Given the description of an element on the screen output the (x, y) to click on. 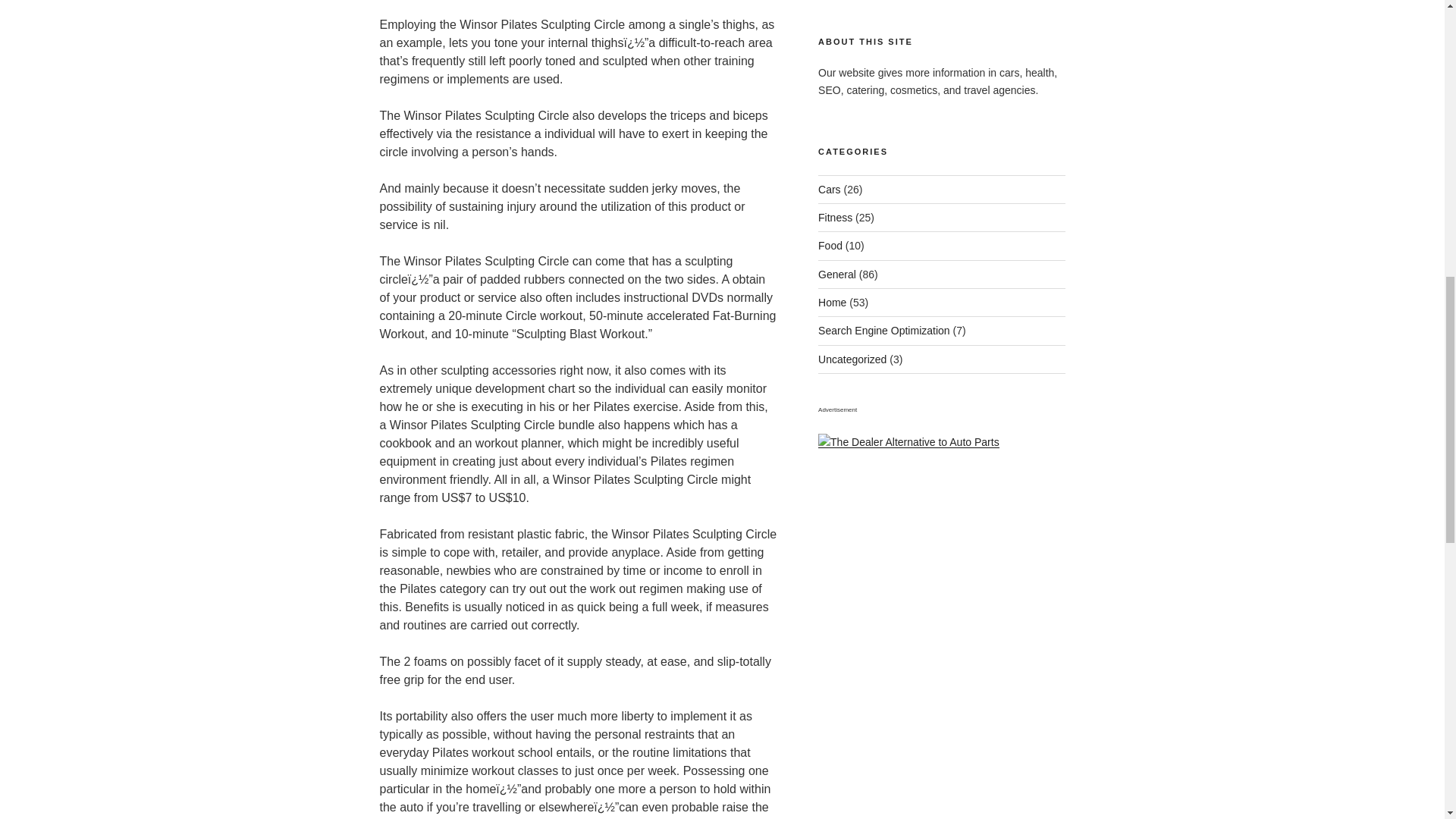
Uncategorized (852, 358)
General (837, 274)
Food (830, 245)
Search Engine Optimization (884, 330)
Cars (829, 189)
Home (831, 302)
Fitness (834, 217)
